Given the description of an element on the screen output the (x, y) to click on. 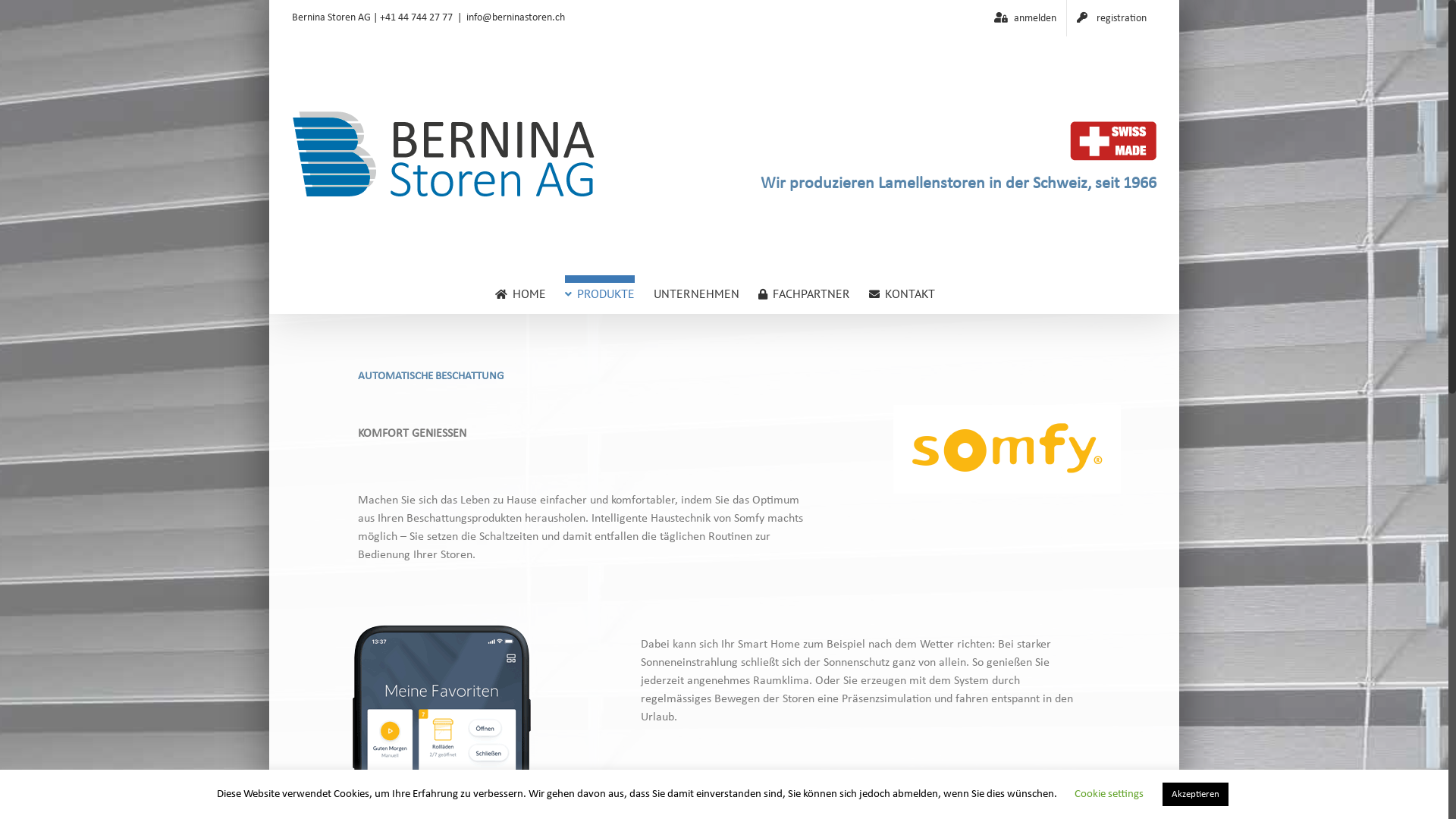
+41 44 744 27 77 Element type: text (415, 17)
PRODUKTE Element type: text (598, 294)
Cookie settings Element type: text (1107, 794)
anmelden Element type: text (1025, 18)
Akzeptieren Element type: text (1194, 794)
info@berninastoren.ch Element type: text (515, 17)
KONTAKT Element type: text (902, 294)
UNTERNEHMEN Element type: text (696, 294)
registration Element type: text (1111, 18)
FACHPARTNER Element type: text (804, 294)
HOME Element type: text (519, 294)
